Given the description of an element on the screen output the (x, y) to click on. 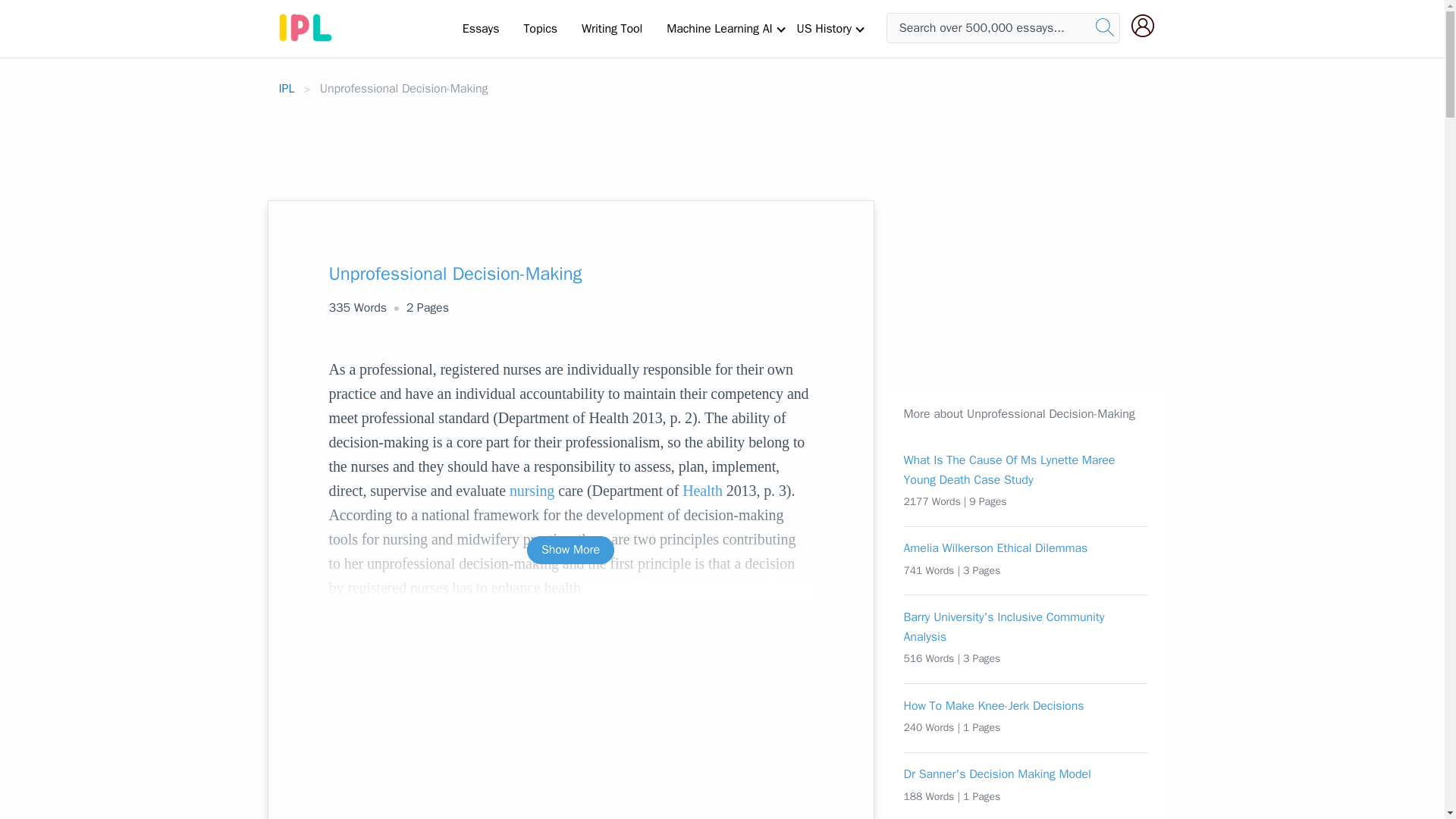
nursing (531, 490)
Writing Tool (611, 28)
Machine Learning AI (718, 28)
Show More (570, 550)
Topics (540, 28)
Health (702, 490)
US History (823, 28)
Essays (480, 28)
IPL (287, 88)
